Given the description of an element on the screen output the (x, y) to click on. 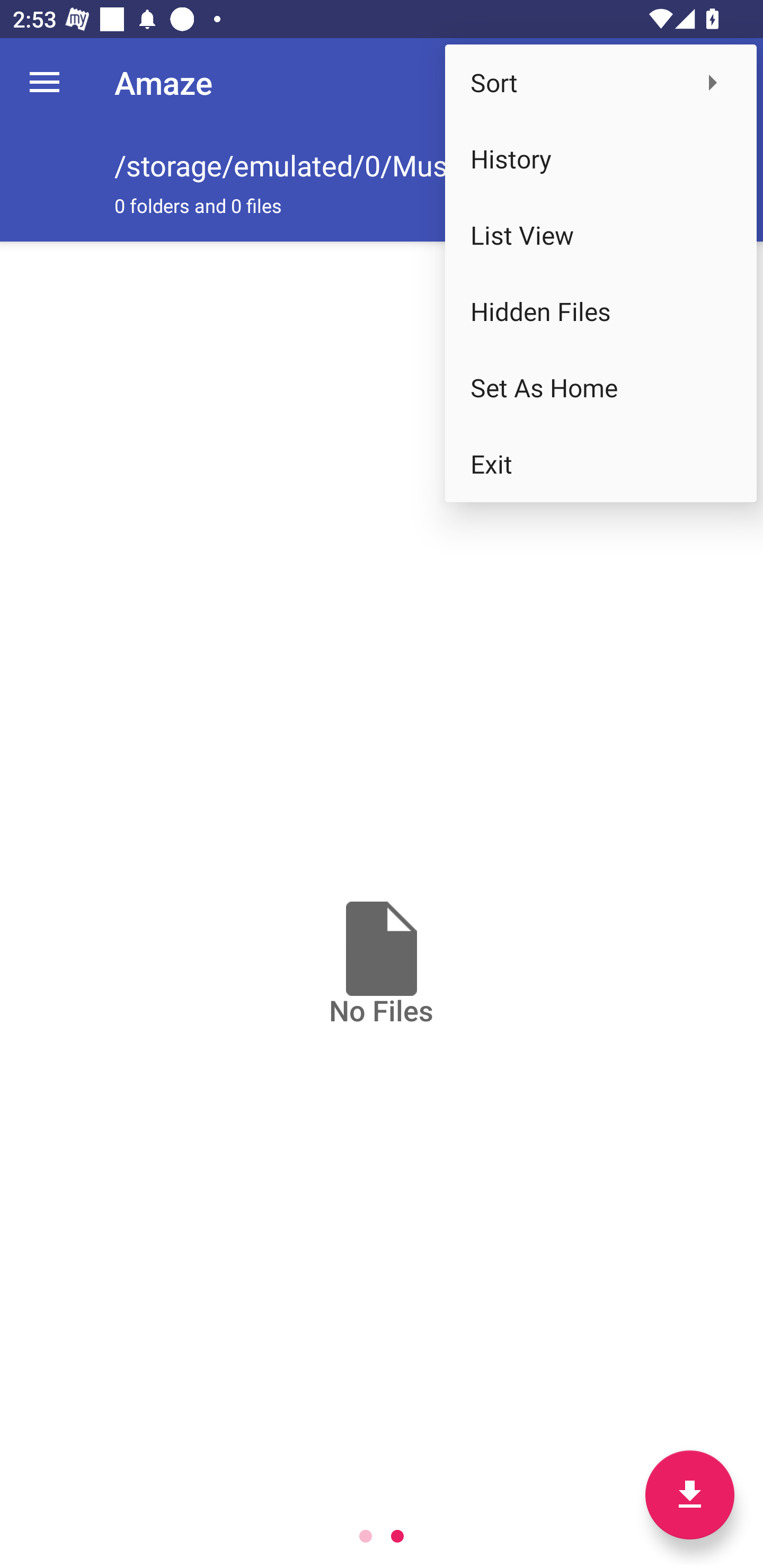
Sort (600, 81)
History (600, 158)
List View (600, 234)
Hidden Files (600, 310)
Set As Home (600, 387)
Exit (600, 463)
